Given the description of an element on the screen output the (x, y) to click on. 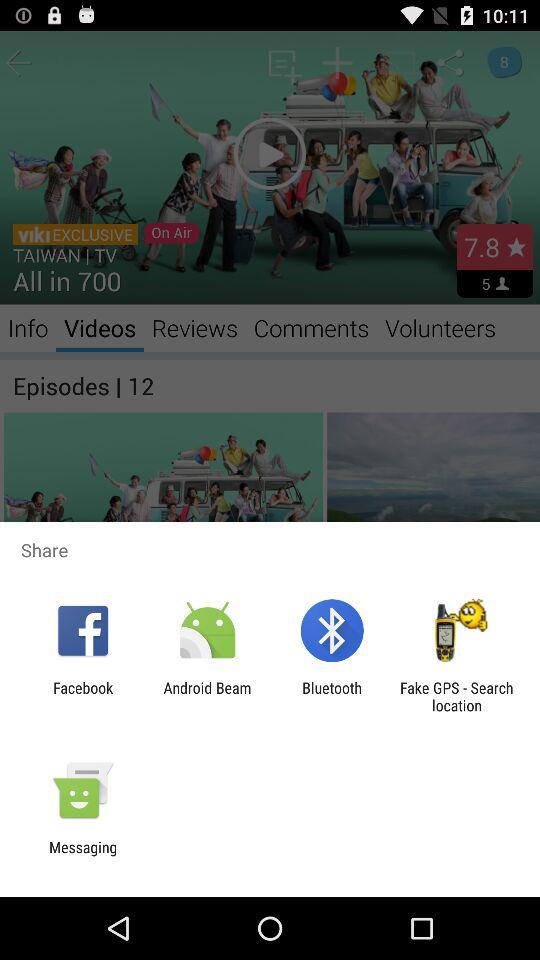
turn on the item to the left of the android beam app (83, 696)
